Given the description of an element on the screen output the (x, y) to click on. 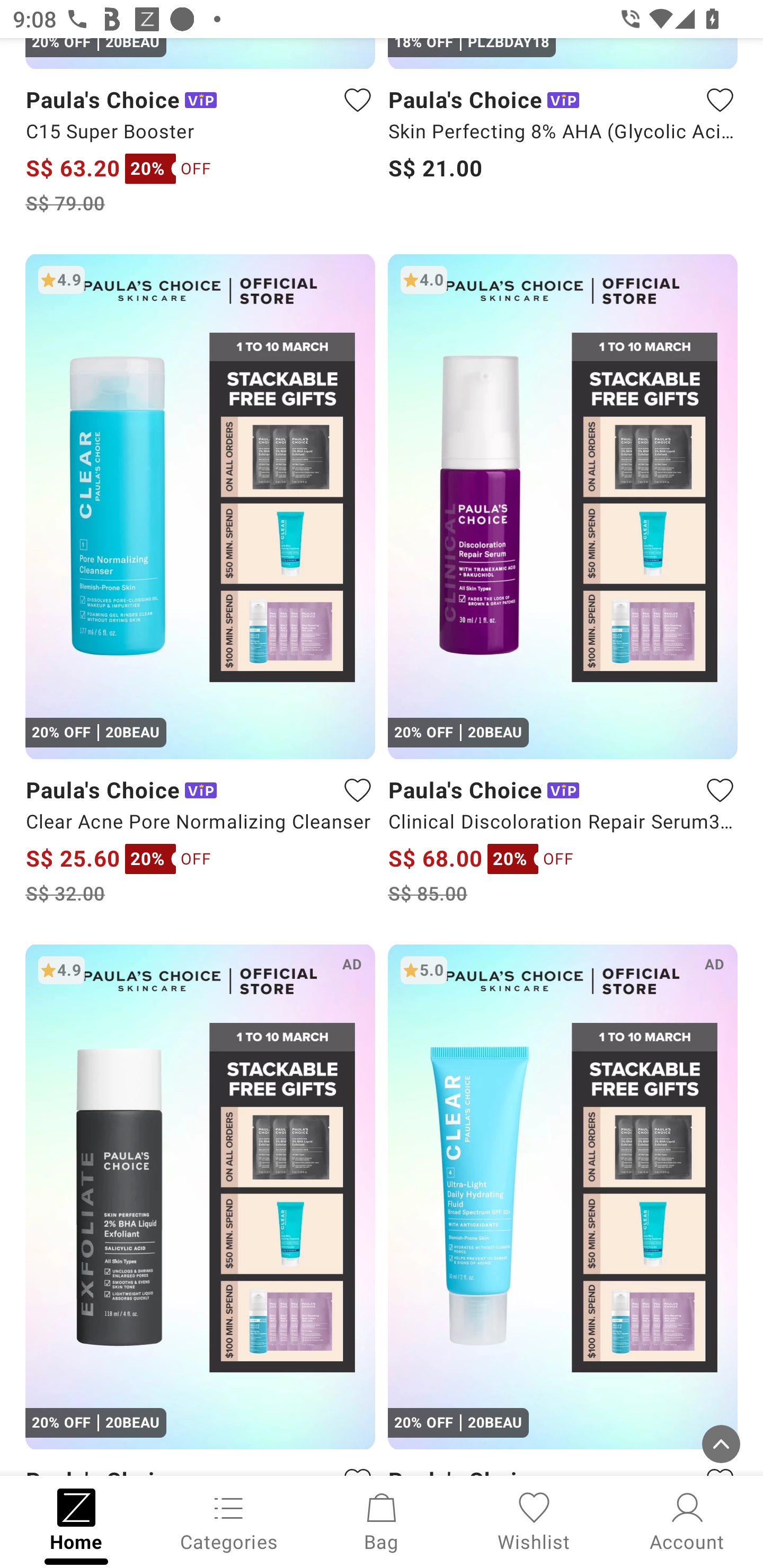
Categories (228, 1519)
Bag (381, 1519)
Wishlist (533, 1519)
Account (686, 1519)
